Given the description of an element on the screen output the (x, y) to click on. 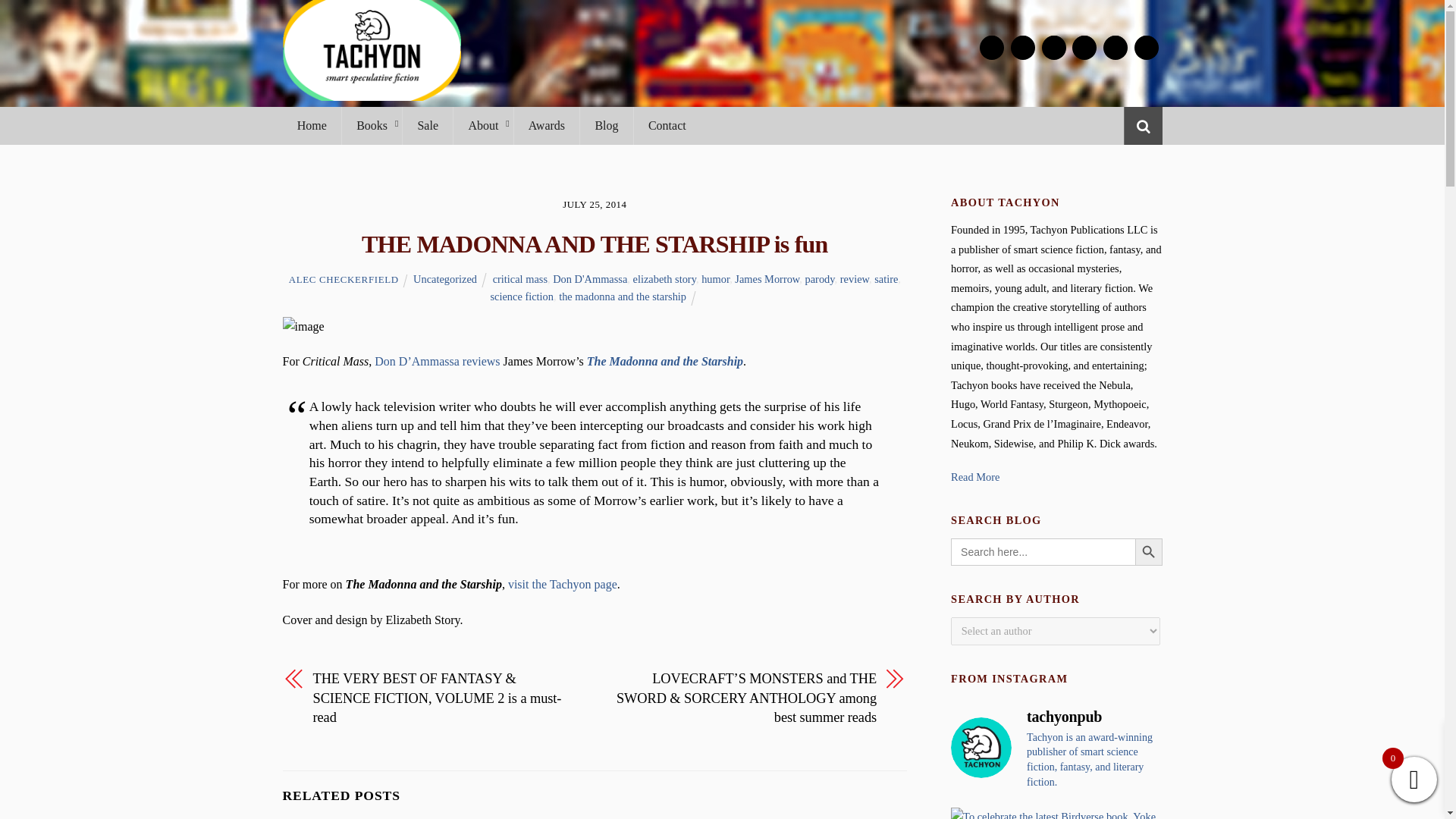
Home (311, 125)
Uncategorized (445, 278)
Awards (546, 125)
ALEC CHECKERFIELD (343, 279)
Contact (666, 125)
elizabeth story (664, 278)
Books (370, 125)
THE MADONNA AND THE STARSHIP is fun (594, 243)
Don D'Ammassa (590, 278)
Tachyon Publications (371, 93)
tachyon-logo (371, 50)
critical mass (520, 278)
Blog (606, 125)
About (482, 125)
Sale (426, 125)
